Given the description of an element on the screen output the (x, y) to click on. 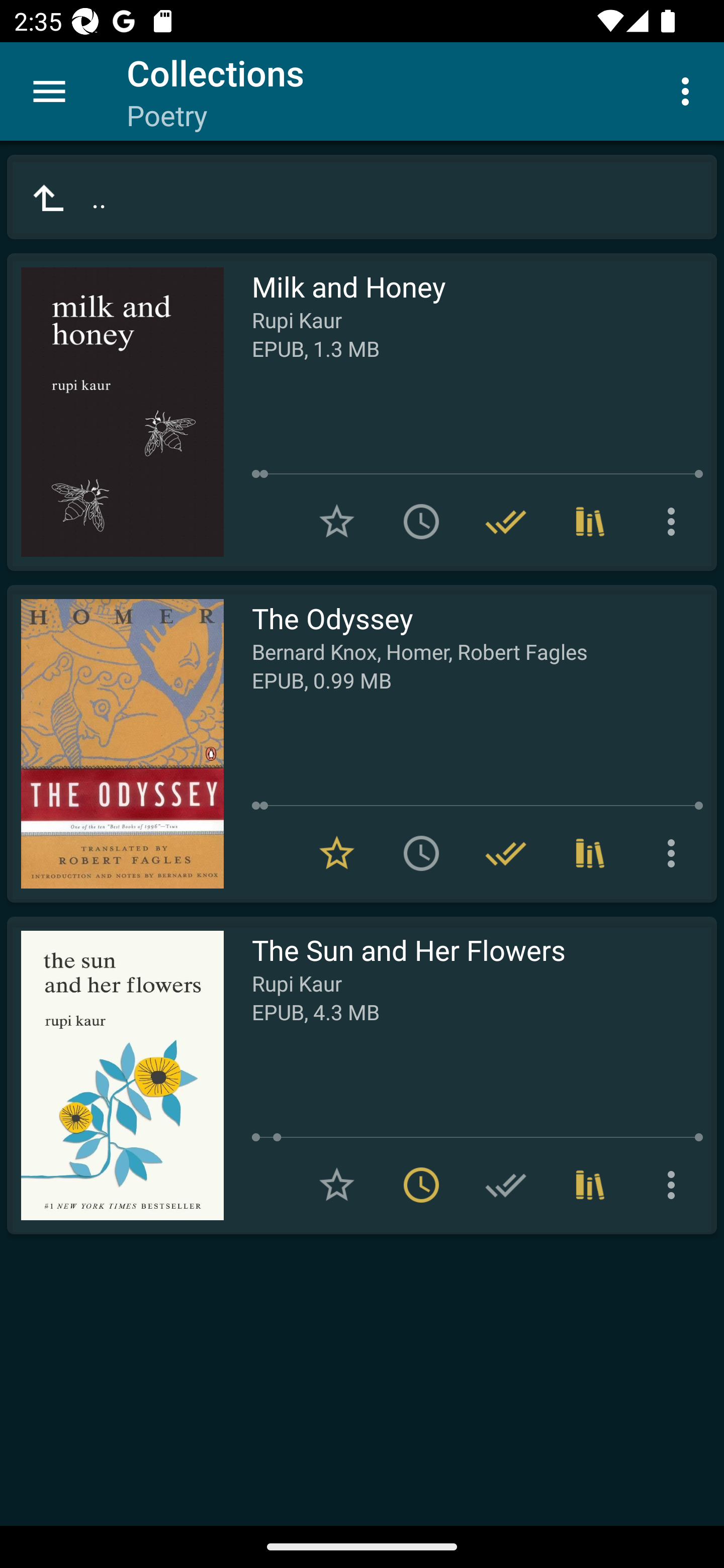
Menu (49, 91)
More options (688, 90)
.. (361, 197)
Read Milk and Honey (115, 412)
Add to Favorites (336, 521)
Add to To read (421, 521)
Remove from Have read (505, 521)
Collections (4) (590, 521)
More options (674, 521)
Read The Odyssey (115, 743)
Remove from Favorites (336, 852)
Add to To read (421, 852)
Remove from Have read (505, 852)
Collections (3) (590, 852)
More options (674, 852)
Read The Sun and Her Flowers (115, 1075)
Add to Favorites (336, 1185)
Remove from To read (421, 1185)
Add to Have read (505, 1185)
Collections (1) (590, 1185)
More options (674, 1185)
